Given the description of an element on the screen output the (x, y) to click on. 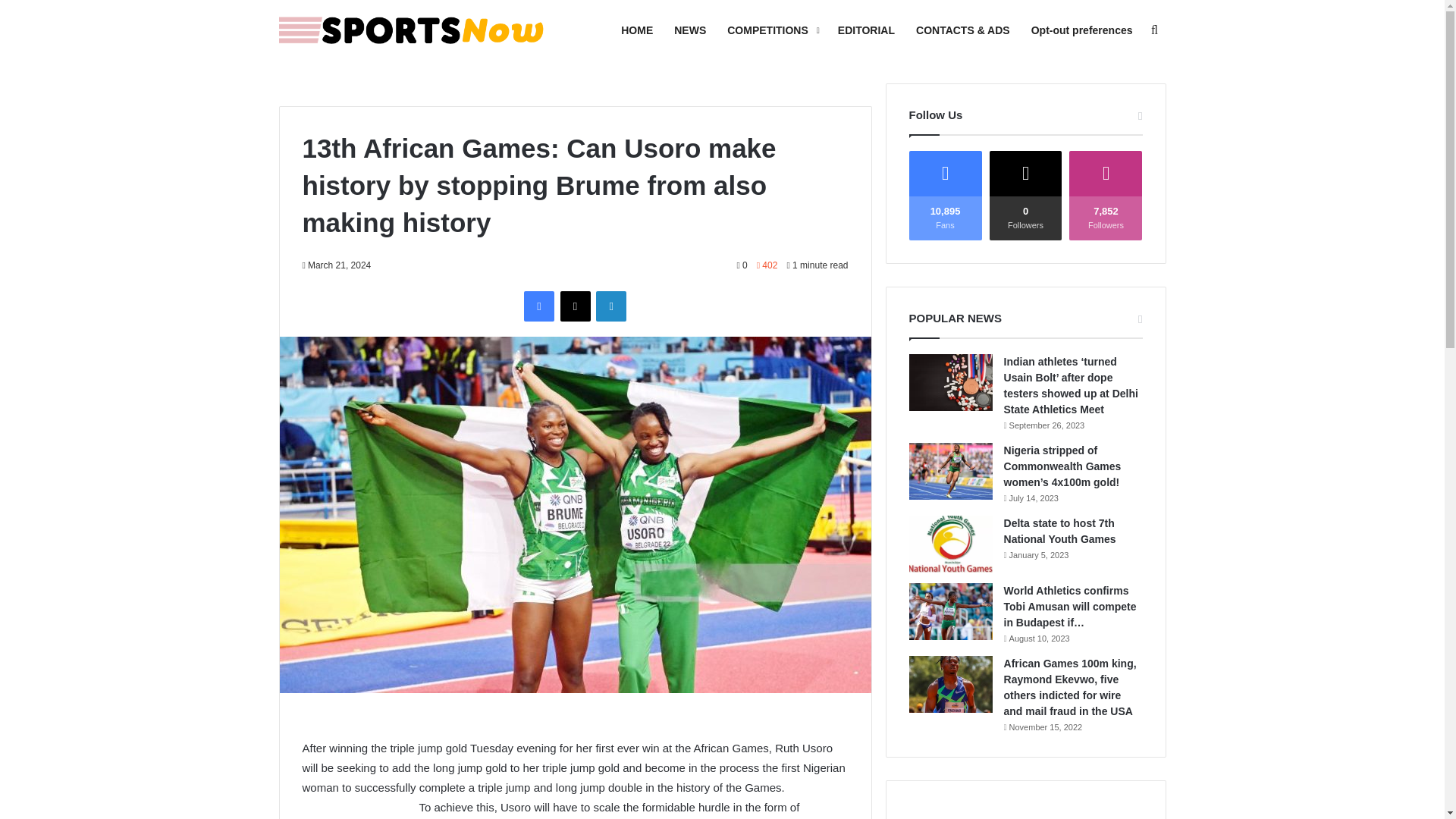
LinkedIn (610, 306)
Sportsnow.com.ng (411, 30)
COMPETITIONS (771, 30)
X (574, 306)
Opt-out preferences (1081, 30)
LinkedIn (610, 306)
EDITORIAL (866, 30)
X (574, 306)
Facebook (539, 306)
Facebook (539, 306)
